Given the description of an element on the screen output the (x, y) to click on. 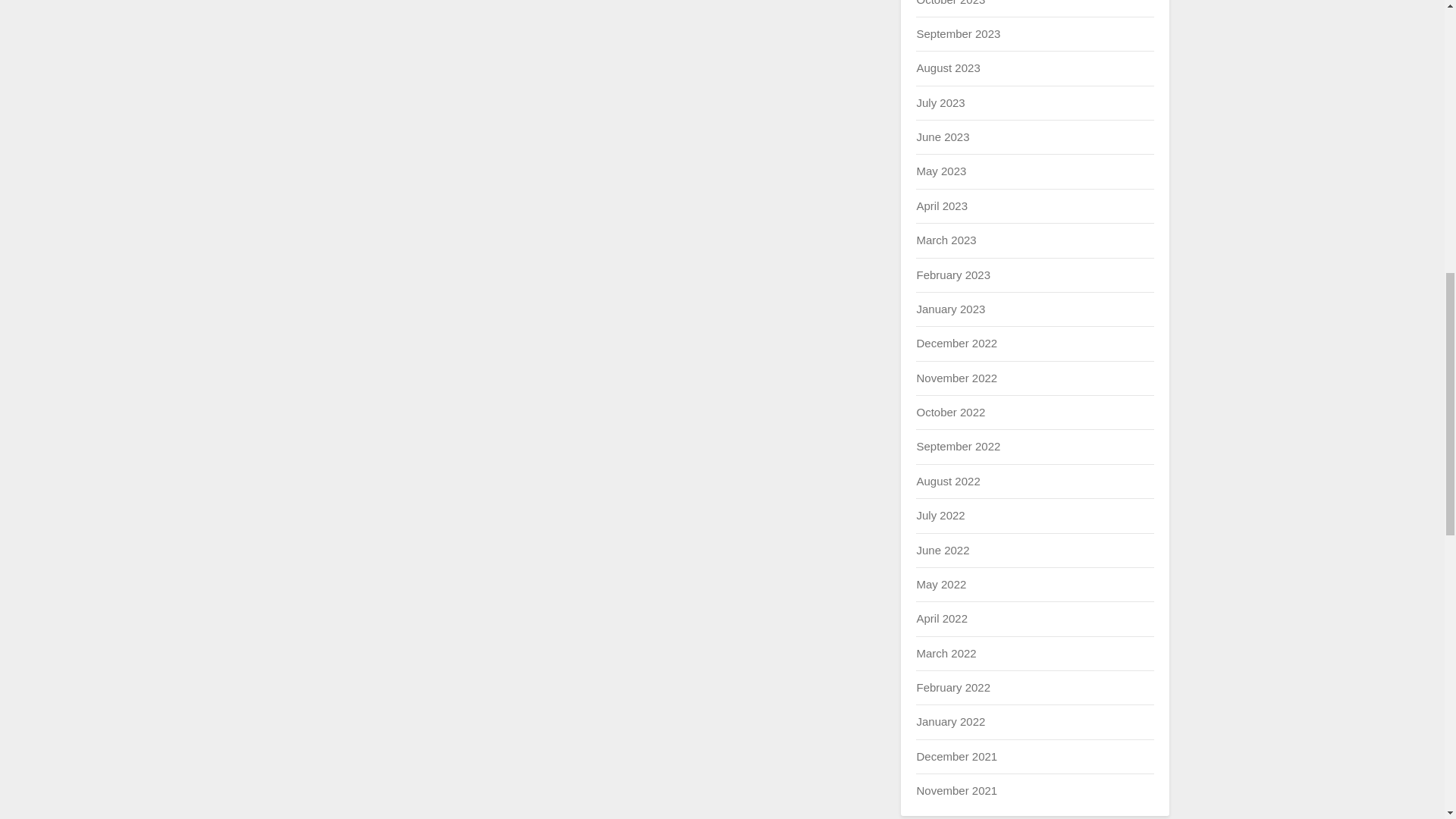
November 2022 (956, 377)
March 2023 (945, 239)
September 2022 (957, 445)
December 2022 (956, 342)
July 2023 (939, 102)
August 2022 (947, 481)
October 2022 (950, 411)
May 2023 (940, 170)
June 2022 (942, 549)
September 2023 (957, 33)
